Given the description of an element on the screen output the (x, y) to click on. 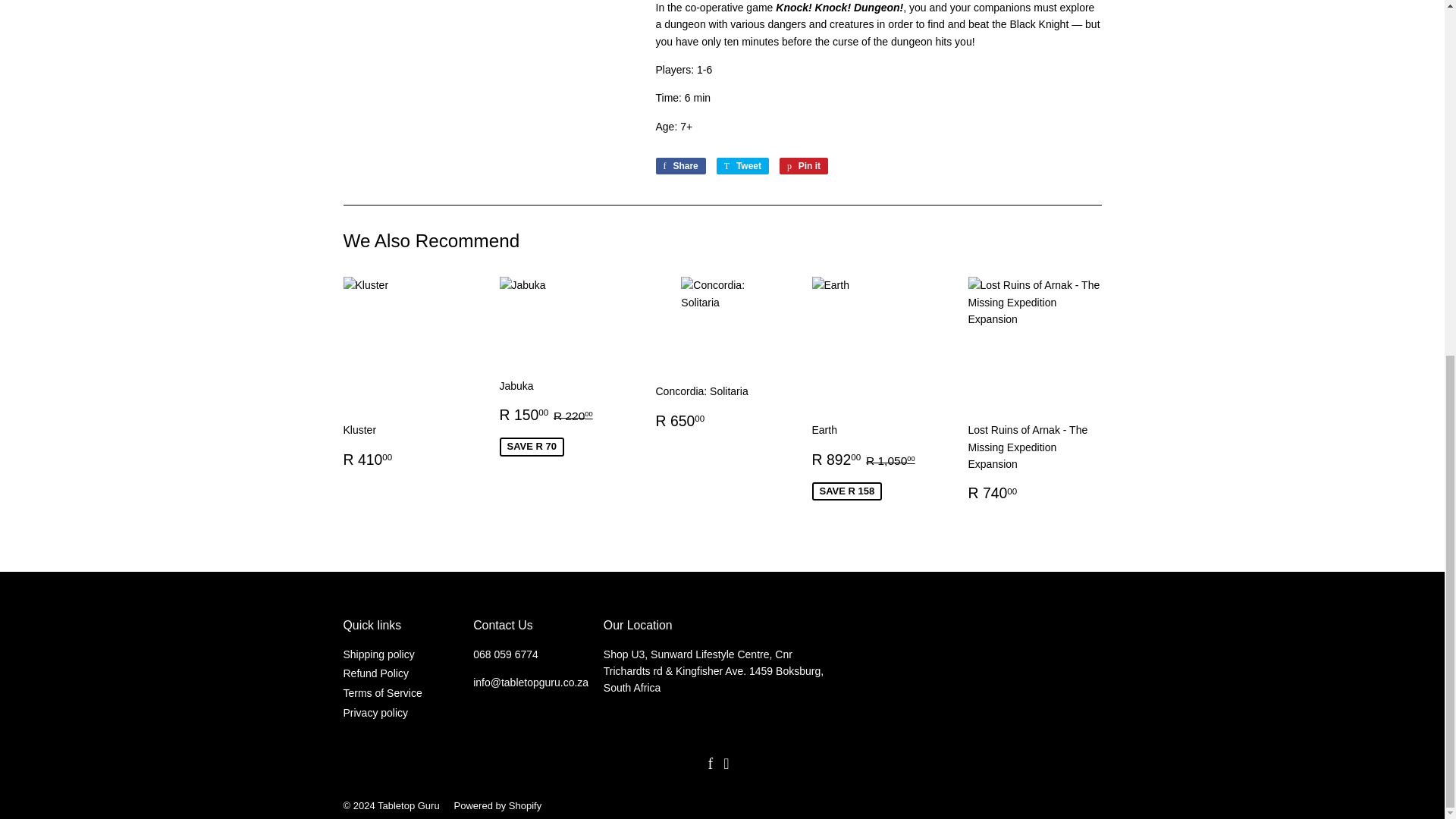
Pin on Pinterest (803, 166)
Share on Facebook (679, 166)
Tweet on Twitter (742, 166)
